Given the description of an element on the screen output the (x, y) to click on. 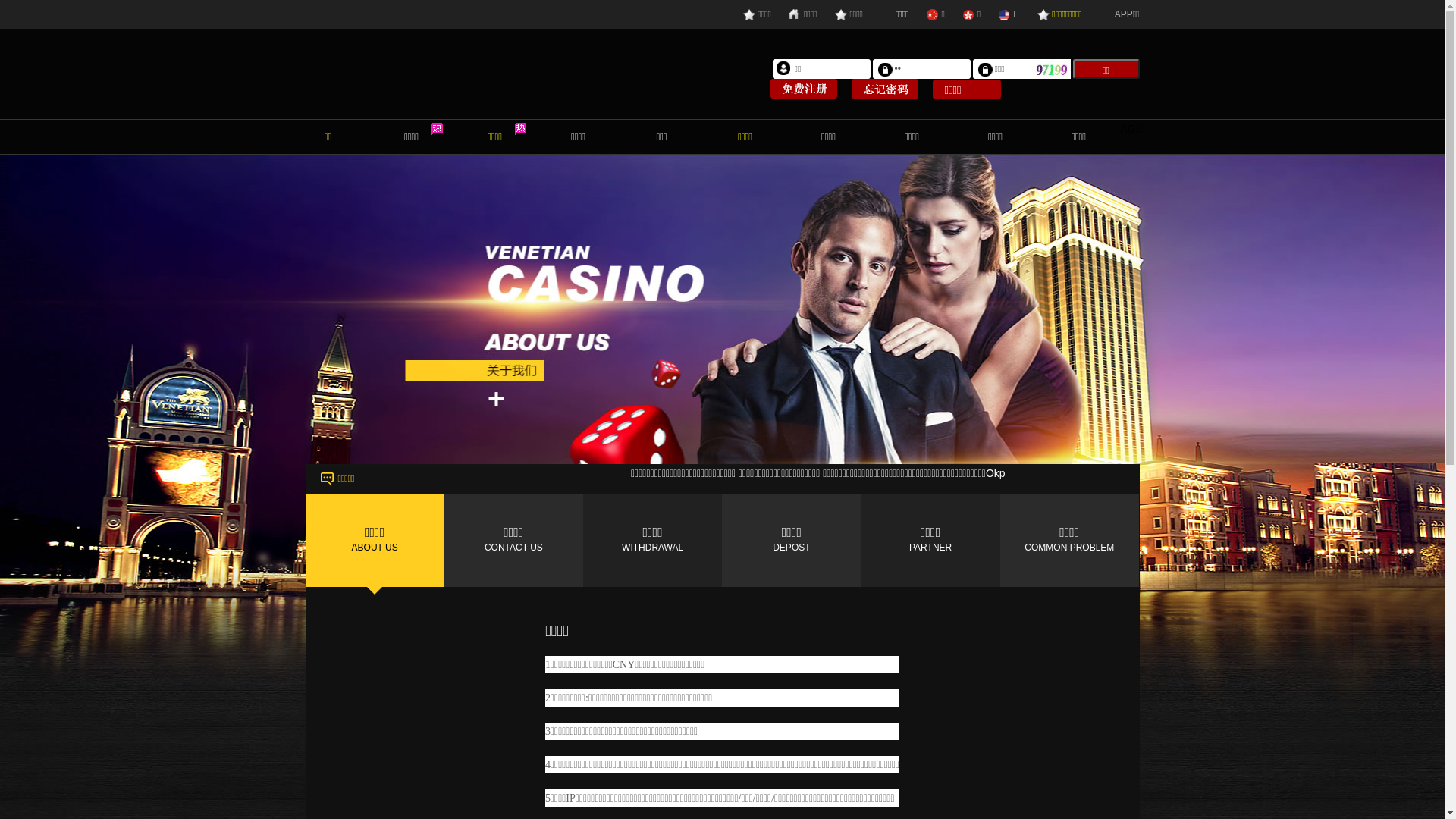
E Element type: text (1008, 14)
